Given the description of an element on the screen output the (x, y) to click on. 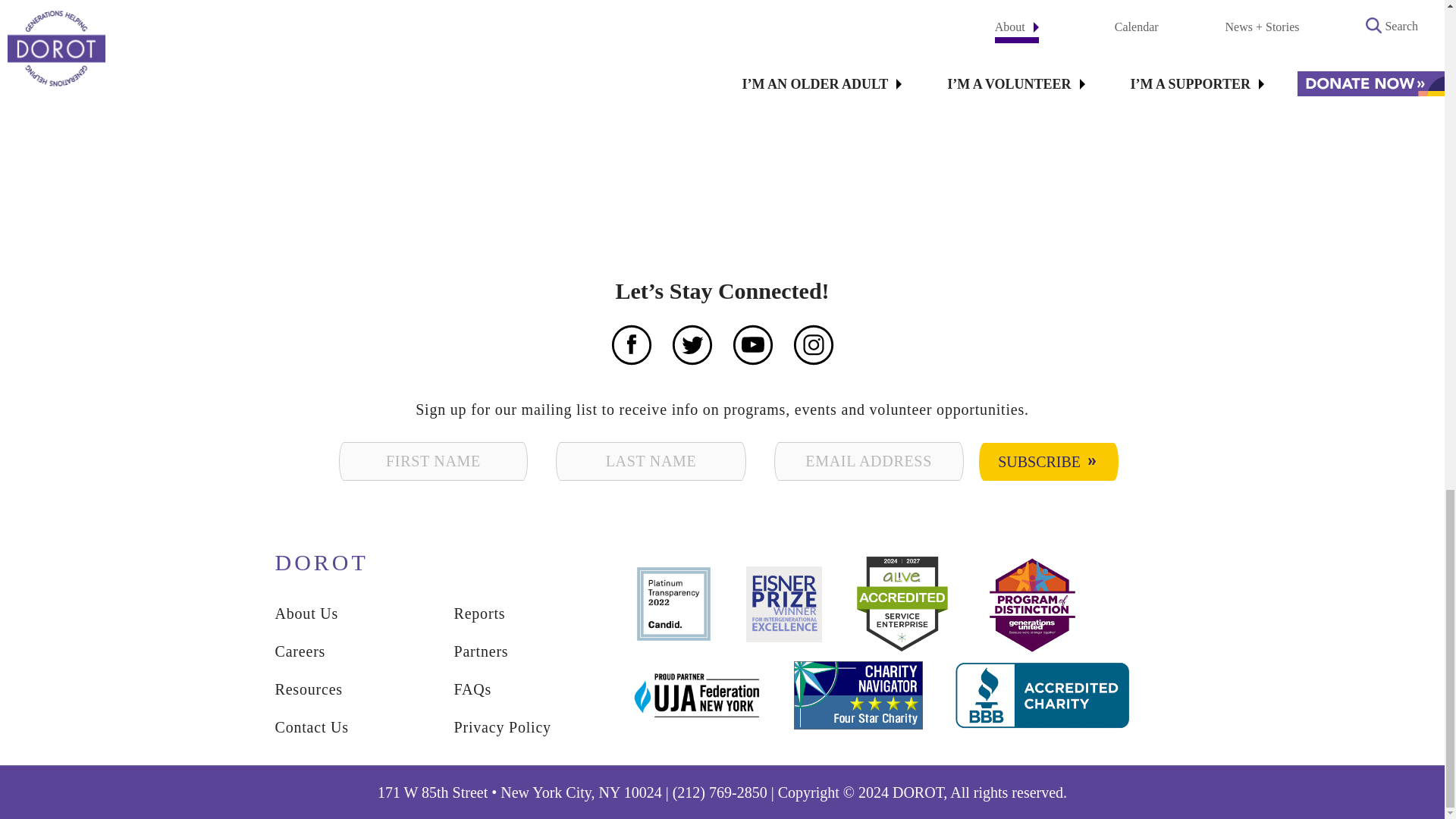
Subscribe (1048, 461)
